Given the description of an element on the screen output the (x, y) to click on. 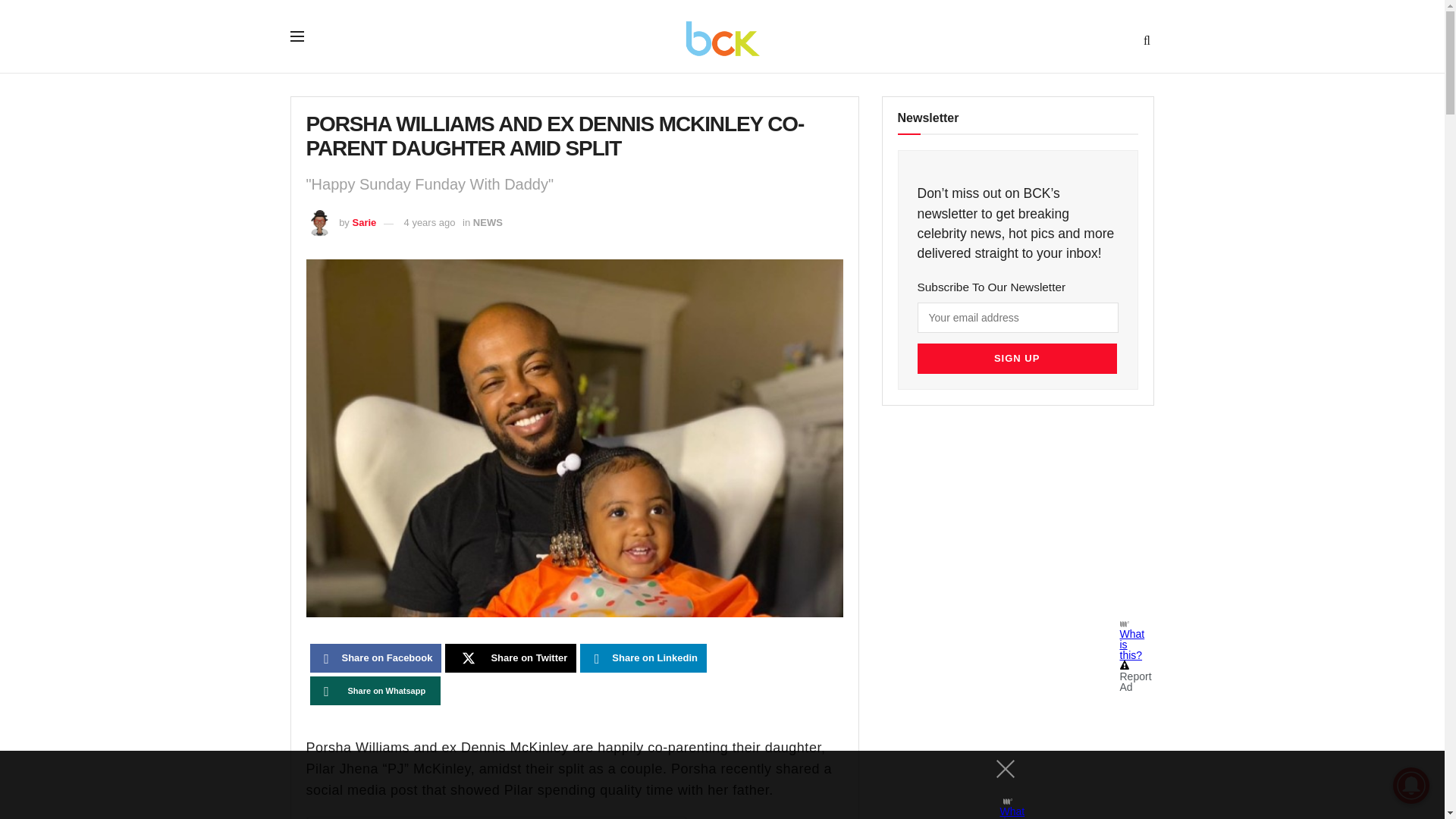
Share on Twitter (510, 657)
Sarie (363, 222)
NEWS (487, 222)
Share on Linkedin (642, 657)
Share on Facebook (374, 657)
Sign up (1016, 358)
4 years ago (429, 222)
3rd party ad content (708, 785)
Share on Whatsapp (374, 690)
3rd party ad content (1021, 523)
